Given the description of an element on the screen output the (x, y) to click on. 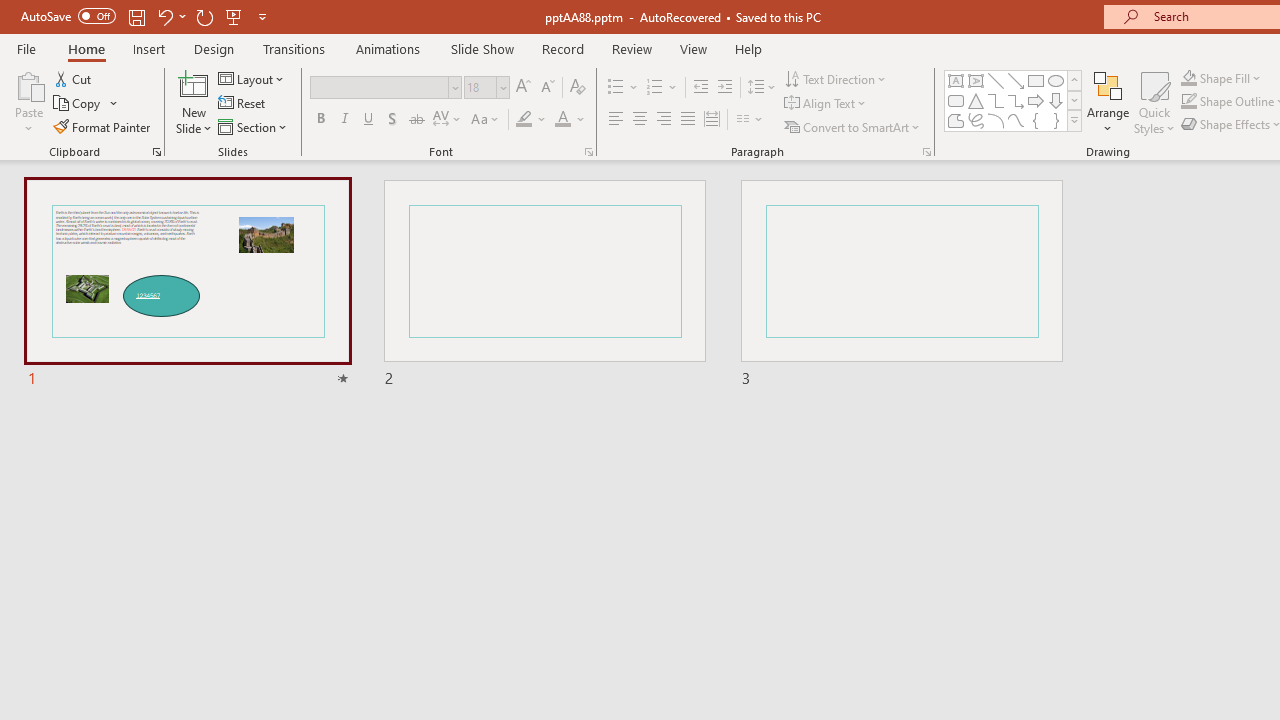
Justify (687, 119)
AutomationID: ShapesInsertGallery (1014, 100)
Font Size (480, 87)
Rectangle (1035, 80)
Text Highlight Color Yellow (524, 119)
Line Spacing (762, 87)
Increase Font Size (522, 87)
Align Right (663, 119)
Font (385, 87)
Columns (750, 119)
